Given the description of an element on the screen output the (x, y) to click on. 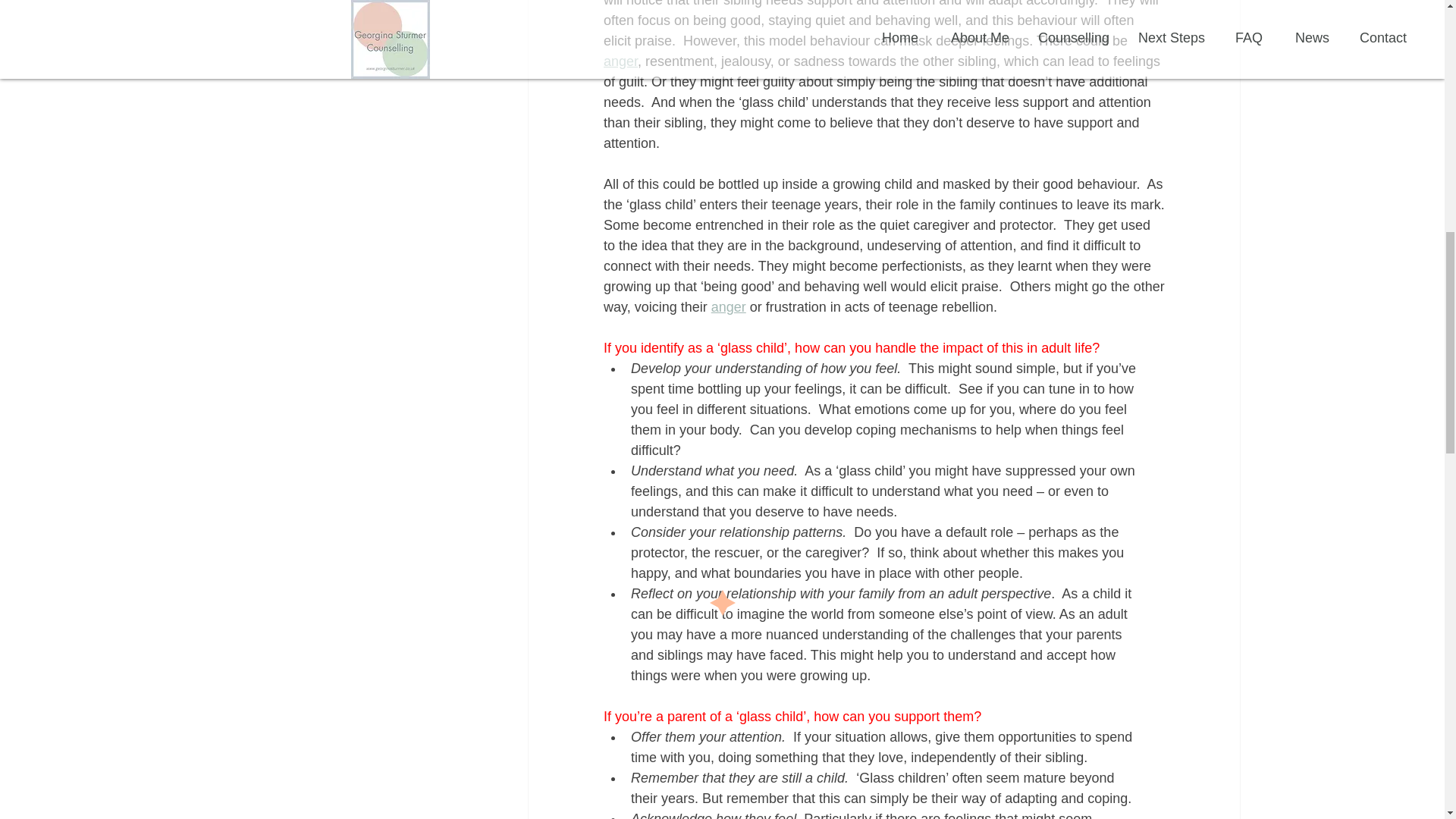
anger (727, 306)
anger (620, 61)
